Given the description of an element on the screen output the (x, y) to click on. 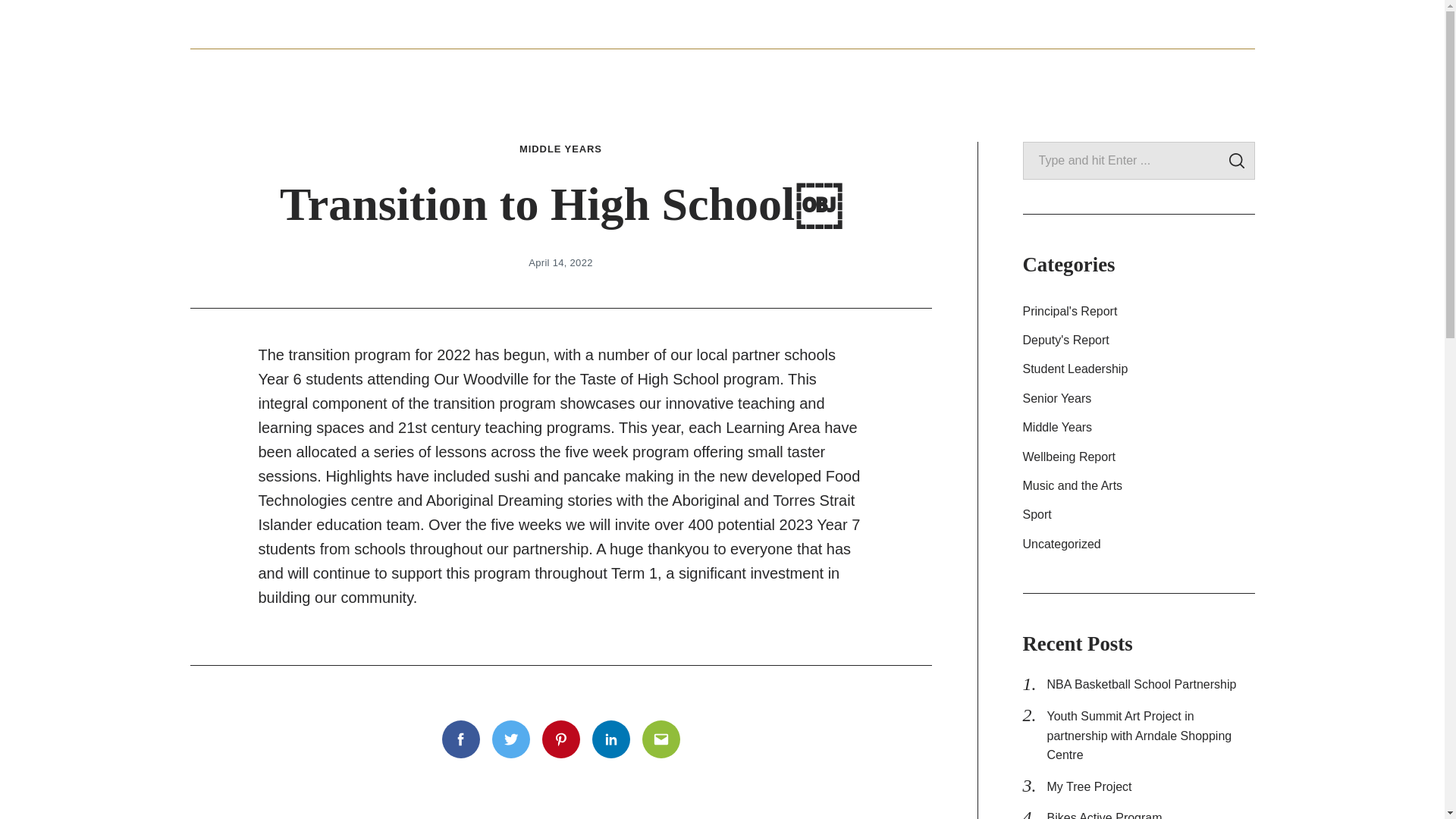
SPORT (1220, 72)
SENIOR YEARS (704, 72)
MIDDLE YEARS (820, 72)
WELLBEING REPORT (955, 72)
Linkedin (609, 739)
MIDDLE YEARS (560, 149)
Principal's Report (1137, 311)
SEARCH (1236, 160)
Pinterest (560, 739)
facebook (1155, 23)
